Given the description of an element on the screen output the (x, y) to click on. 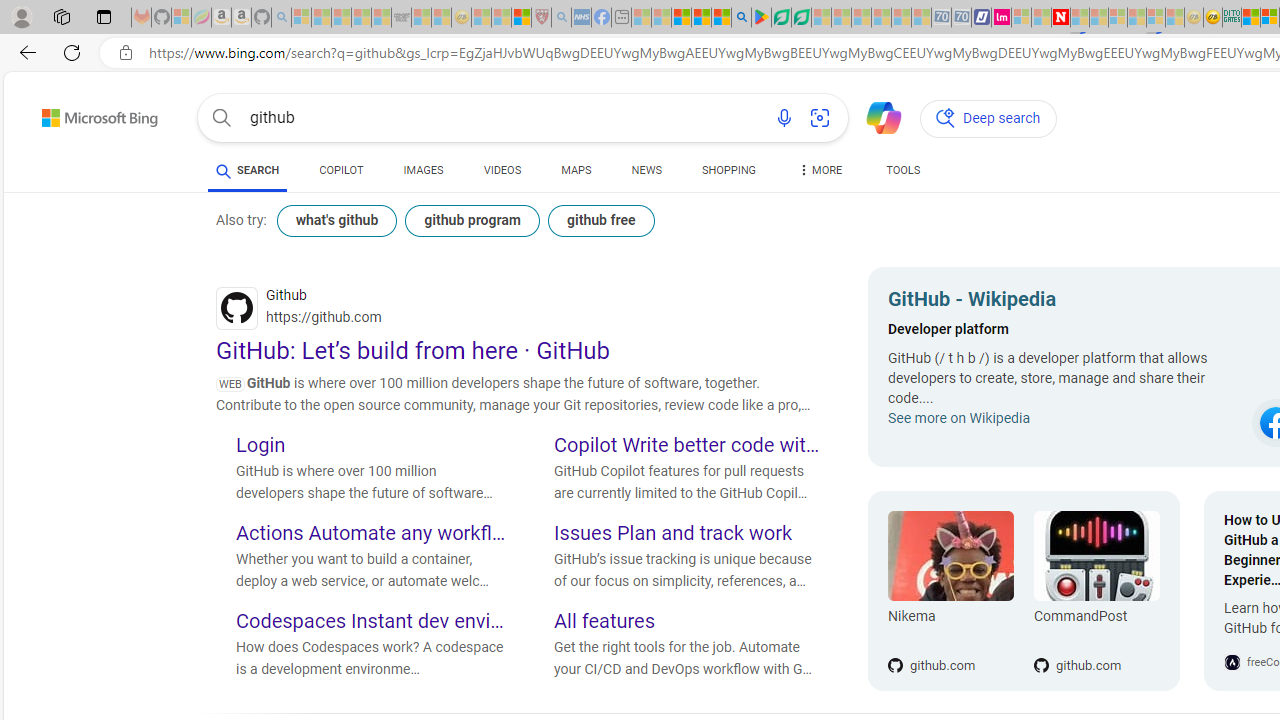
Search using voice (783, 117)
SHOPPING (728, 170)
Nikema Nikema github.com (950, 591)
Back to Bing search (87, 113)
Issues Plan and track work (689, 534)
Dropdown Menu (819, 170)
Codespaces Instant dev environments (370, 623)
